Given the description of an element on the screen output the (x, y) to click on. 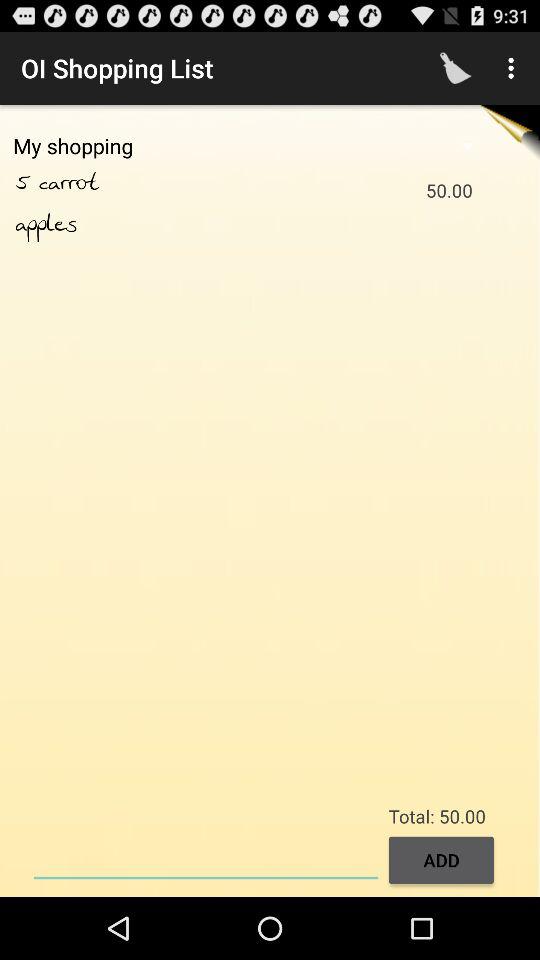
launch icon to the right of 5  icon (90, 183)
